Given the description of an element on the screen output the (x, y) to click on. 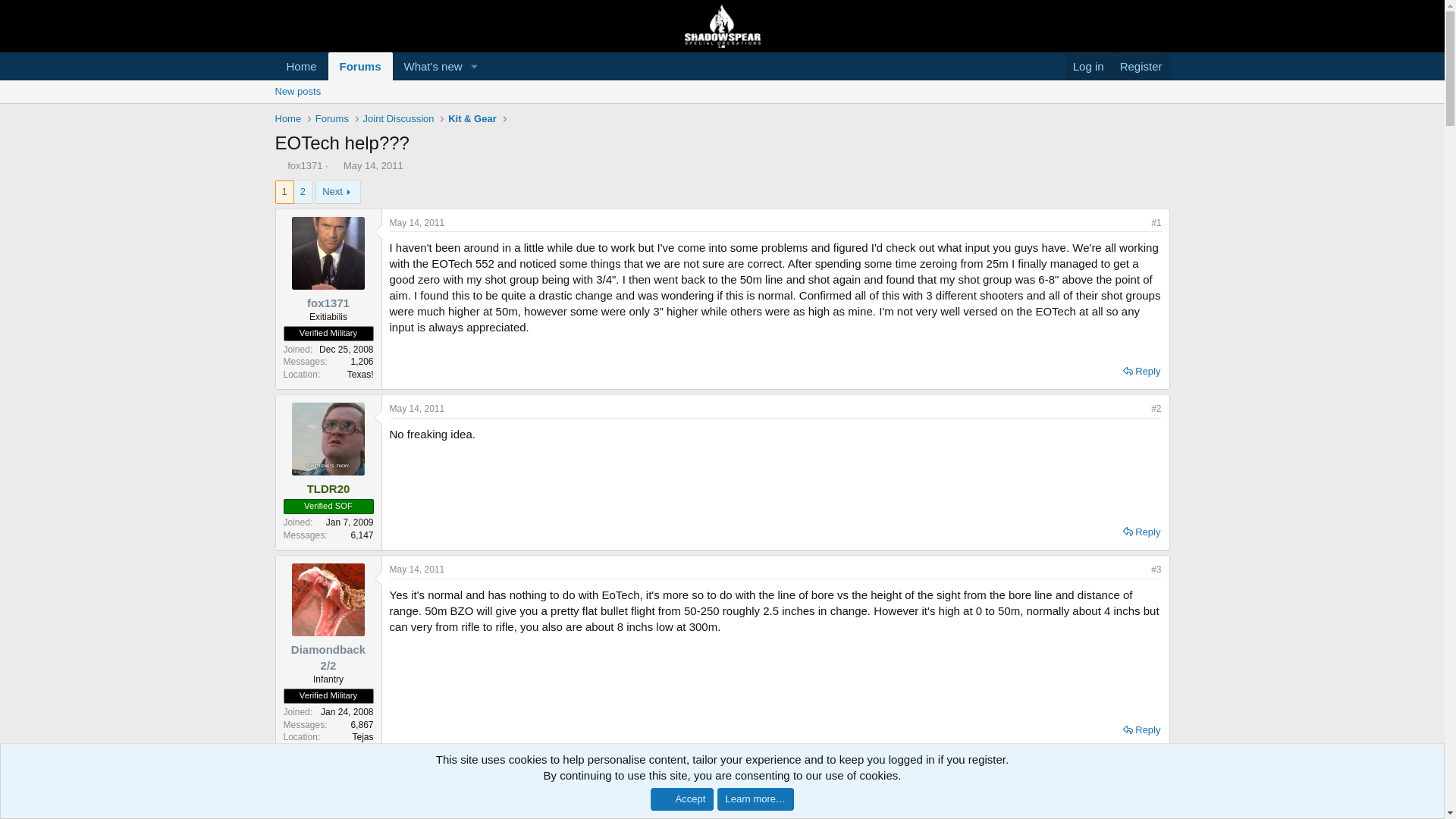
fox1371 (328, 302)
May 14, 2011 (373, 165)
Start date (379, 66)
fox1371 (335, 165)
Register (303, 165)
Forums (1141, 66)
May 14, 2011 at 3:04 PM (379, 83)
Joint Discussion (361, 66)
Reply, quoting this message (417, 569)
Home (398, 117)
Next (1141, 532)
Forums (301, 66)
Home (338, 191)
